Given the description of an element on the screen output the (x, y) to click on. 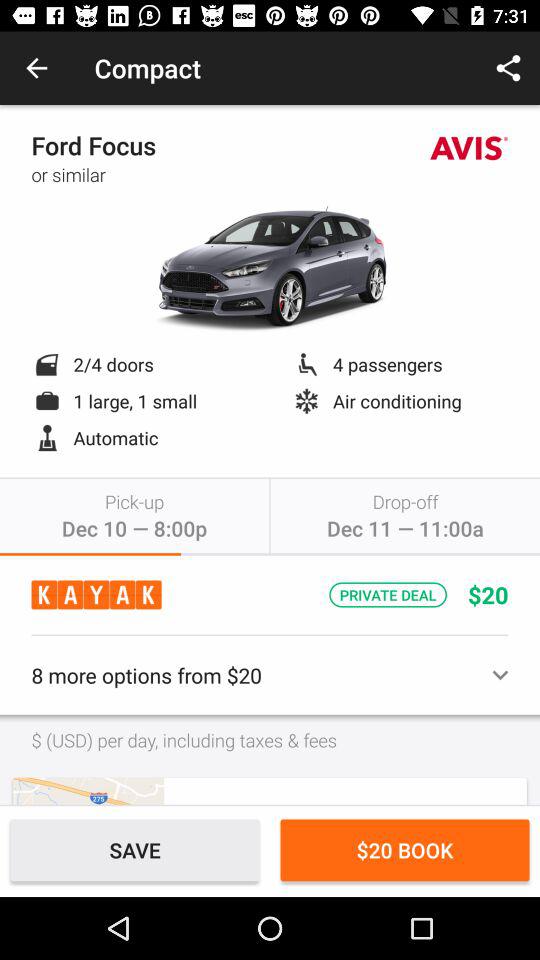
click icon below usd per day (88, 790)
